Given the description of an element on the screen output the (x, y) to click on. 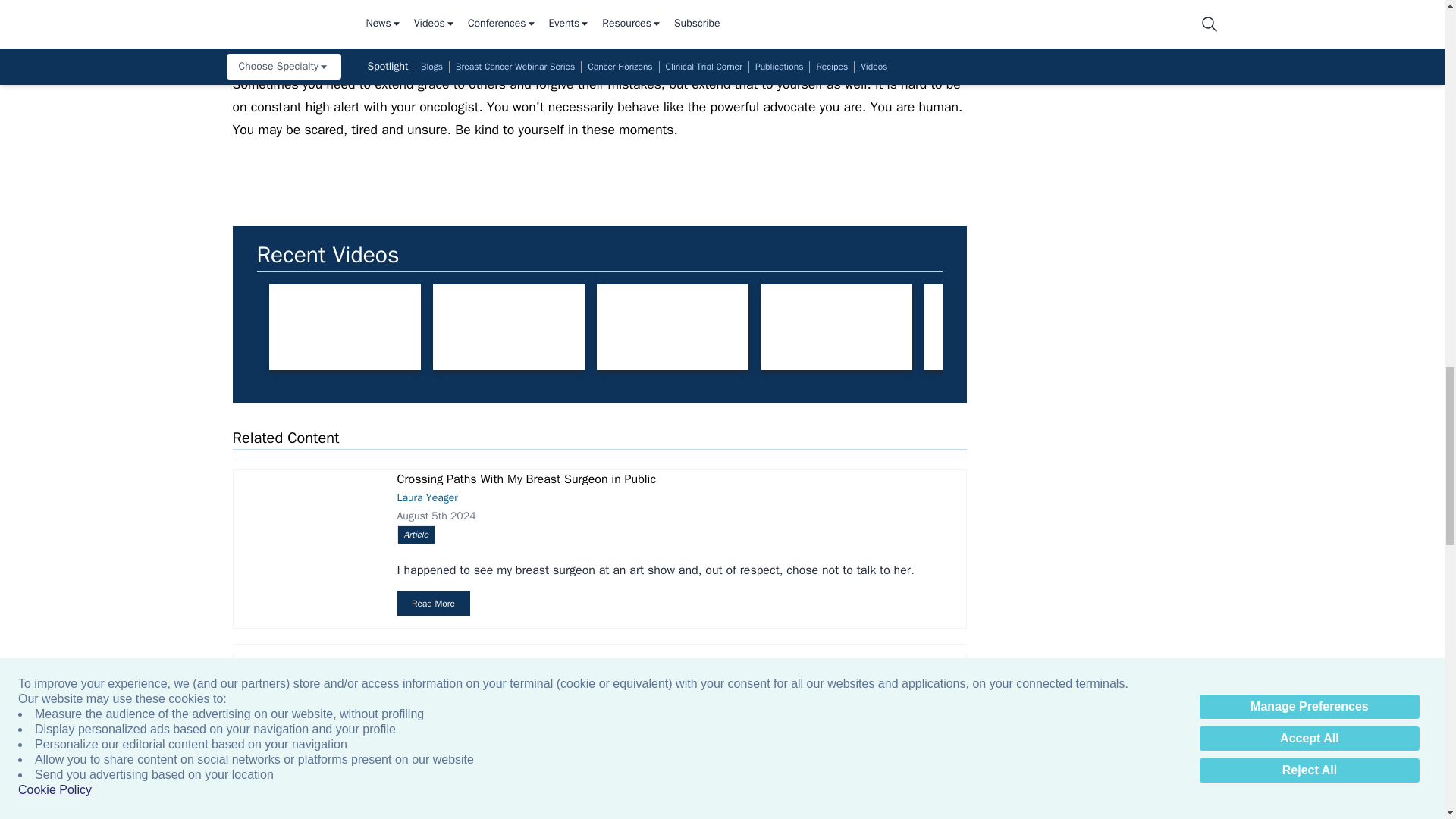
Image of a man with rectangular glasses and short dark hair. (671, 327)
Image of Annie Bond. (507, 327)
Image of a woman wearing a red tank top. (343, 327)
Image of a woman with long dark hair. (835, 327)
Image of Kristen Dahlgren at Extraordinary Healer. (999, 327)
